Given the description of an element on the screen output the (x, y) to click on. 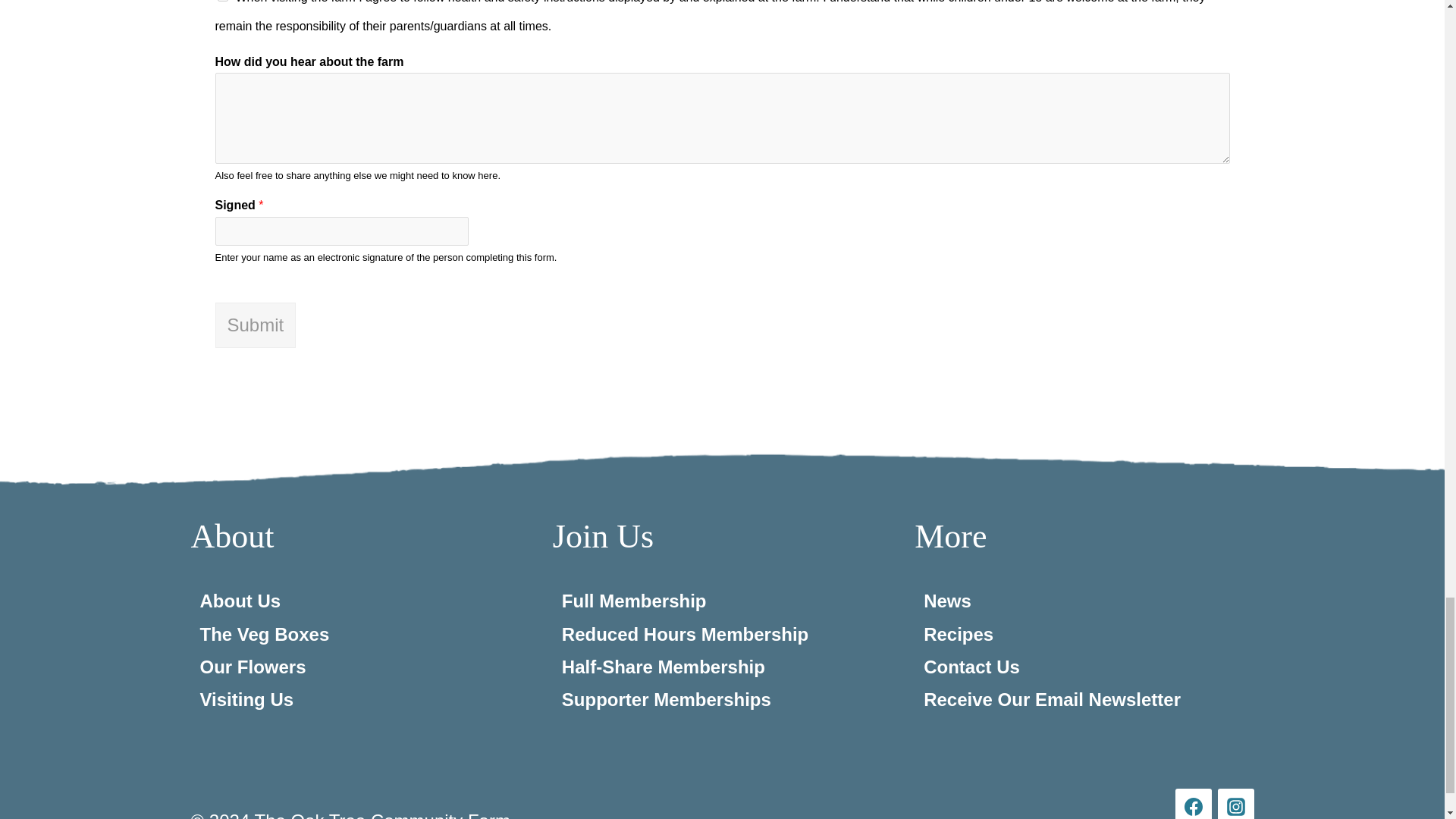
Recipes (957, 634)
Visiting Us (247, 699)
Submit (256, 325)
Reduced Hours Membership (685, 634)
Our Flowers (252, 666)
Contact Us (971, 666)
Half-Share Membership (663, 666)
The Veg Boxes (265, 634)
News (947, 600)
Receive Our Email Newsletter (1051, 699)
Supporter Memberships (666, 699)
About Us (240, 600)
Full Membership (634, 600)
